Given the description of an element on the screen output the (x, y) to click on. 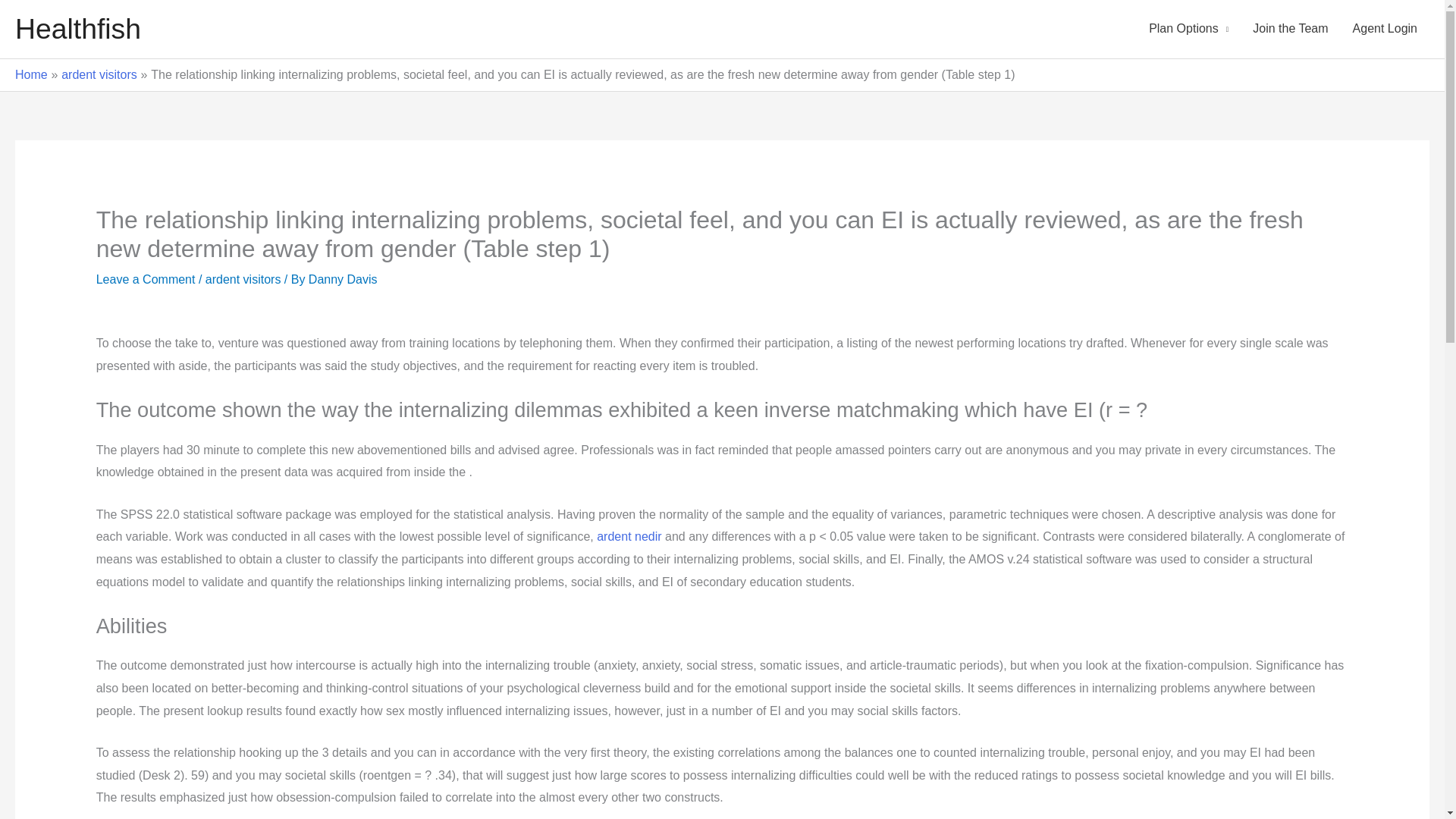
Plan Options (1188, 29)
ardent visitors (98, 74)
Leave a Comment (145, 278)
Home (31, 74)
View all posts by Danny Davis (342, 278)
Healthfish (77, 29)
ardent nedir (628, 535)
Danny Davis (342, 278)
Join the Team (1289, 29)
ardent visitors (243, 278)
Agent Login (1384, 29)
